Given the description of an element on the screen output the (x, y) to click on. 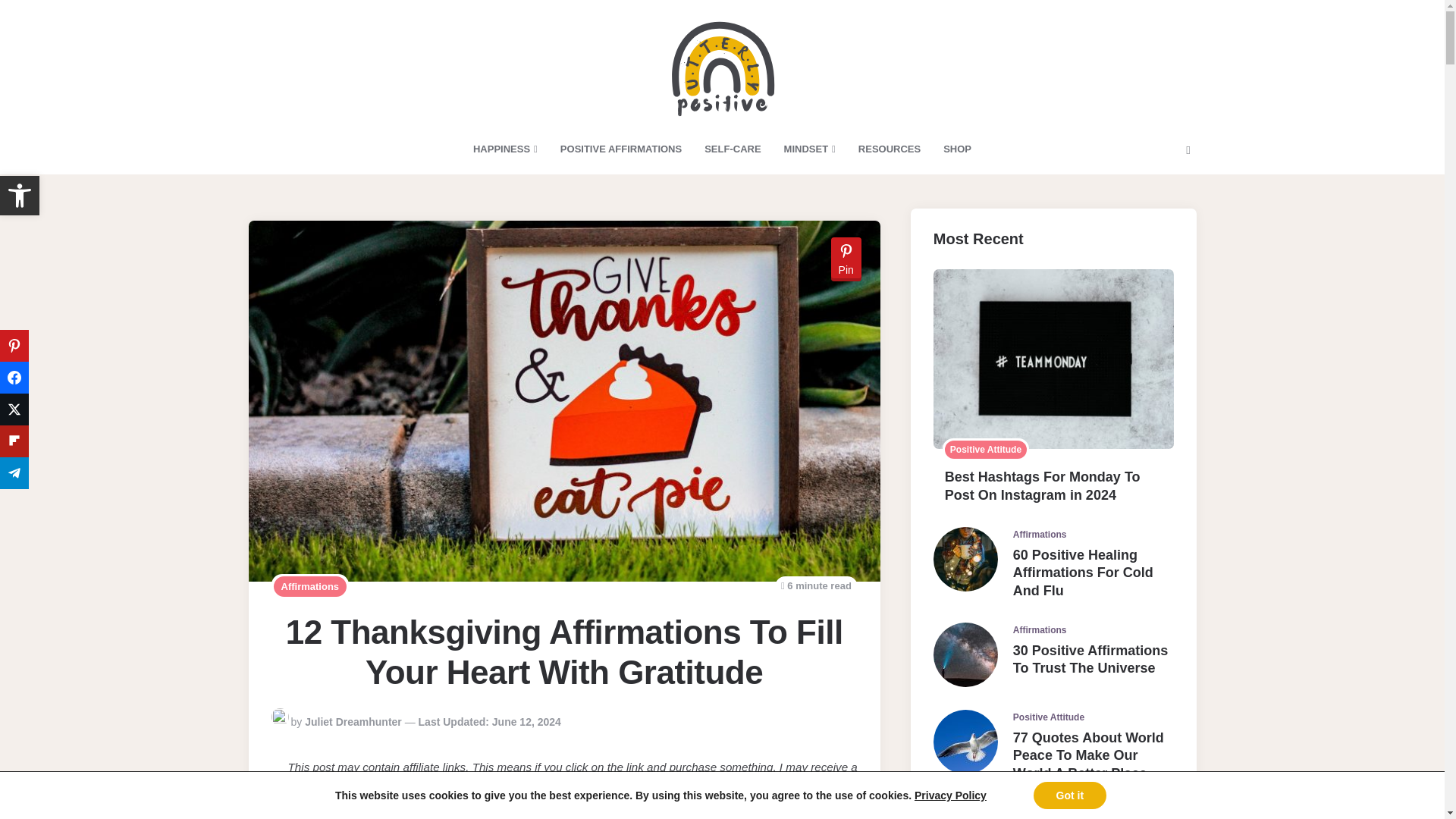
Share on Telegram (14, 472)
SELF-CARE (19, 195)
MINDSET (732, 148)
Share on Pinterest (810, 148)
Accessibility Tools (14, 345)
SHOP (19, 195)
HAPPINESS (956, 148)
RESOURCES (504, 148)
Share on Twitter (889, 148)
Share on Facebook (14, 409)
Accessibility Tools (14, 377)
POSITIVE AFFIRMATIONS (19, 195)
Share on Flipboard (620, 148)
